Given the description of an element on the screen output the (x, y) to click on. 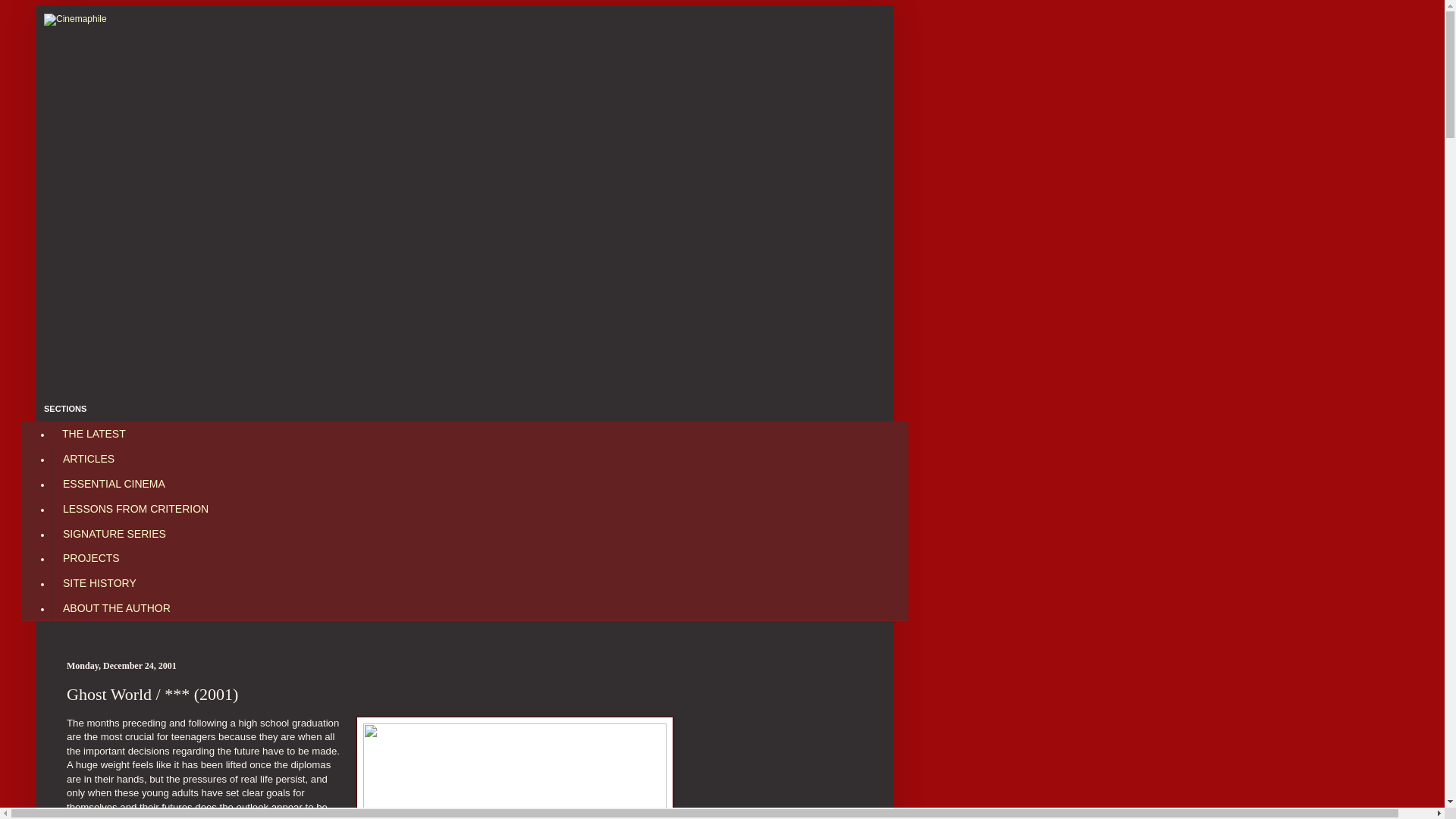
ARTICLES (87, 458)
THE LATEST (93, 433)
LESSONS FROM CRITERION (134, 508)
ESSENTIAL CINEMA (113, 483)
PROJECTS (90, 558)
SITE HISTORY (98, 583)
SIGNATURE SERIES (113, 533)
ABOUT THE AUTHOR (115, 607)
